Given the description of an element on the screen output the (x, y) to click on. 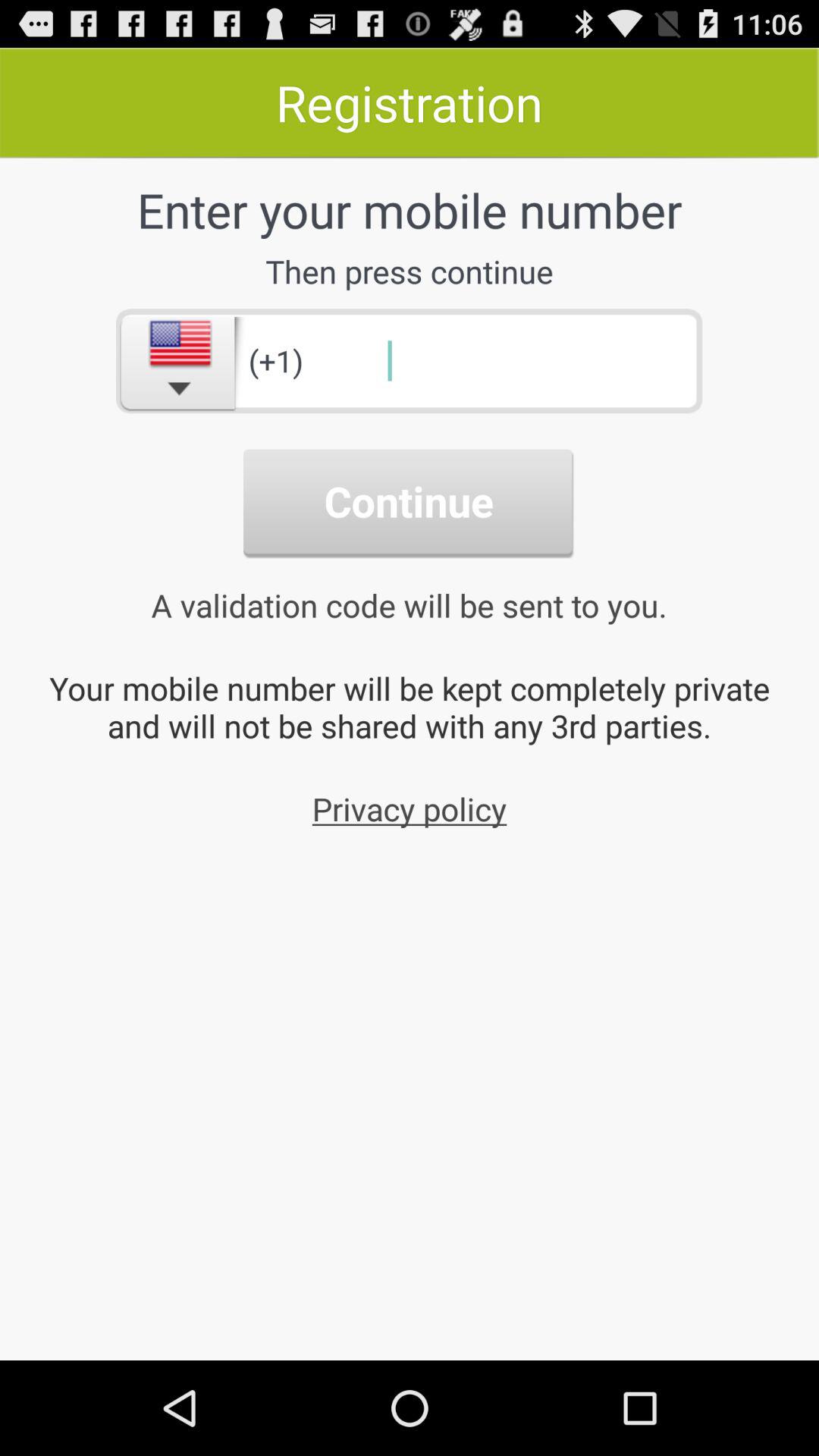
flip until privacy policy item (409, 808)
